Given the description of an element on the screen output the (x, y) to click on. 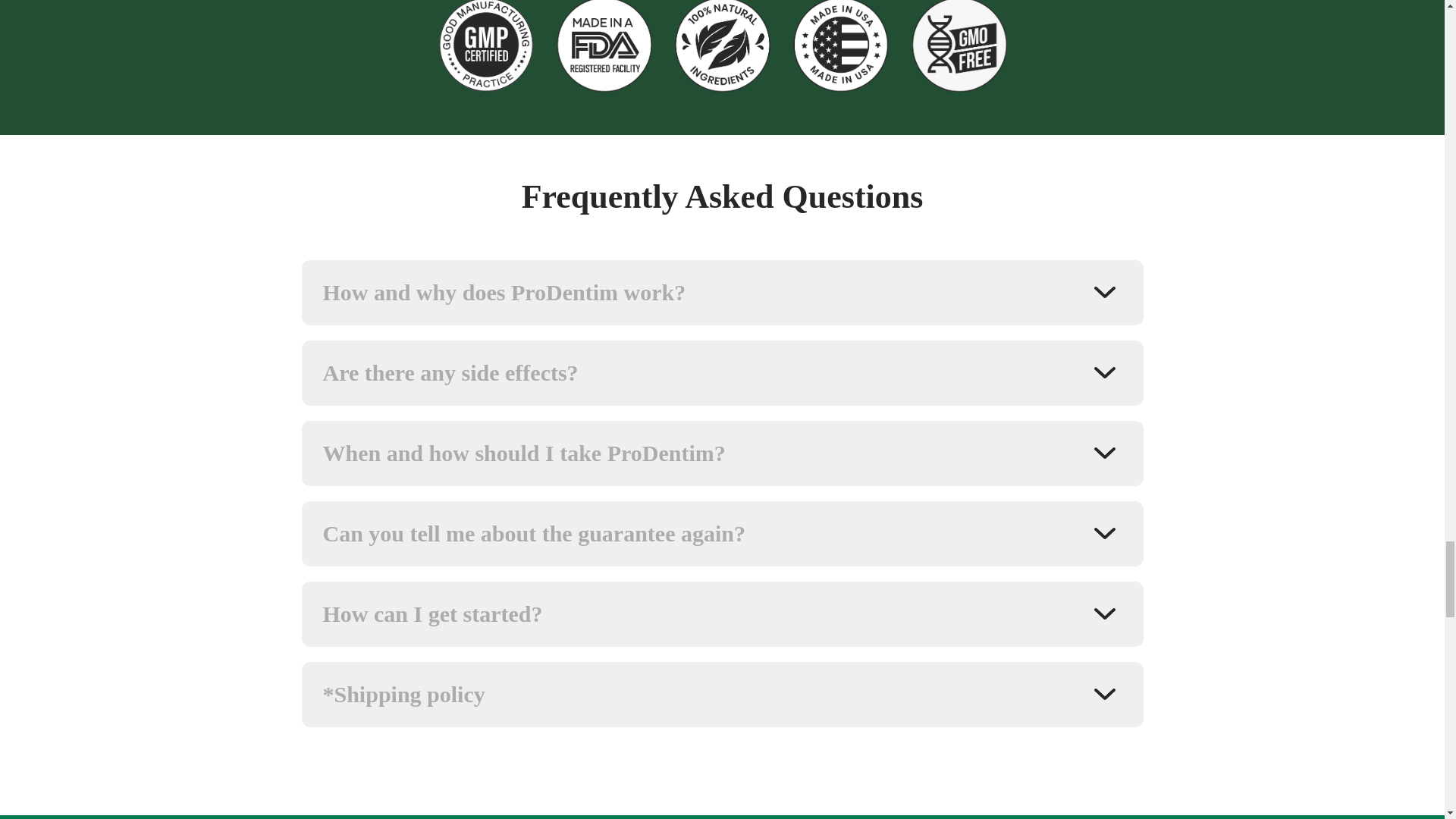
Are there any side effects? (721, 372)
How can I get started? (721, 614)
When and how should I take ProDentim? (721, 453)
Can you tell me about the guarantee again? (721, 533)
How and why does ProDentim work? (721, 292)
